Given the description of an element on the screen output the (x, y) to click on. 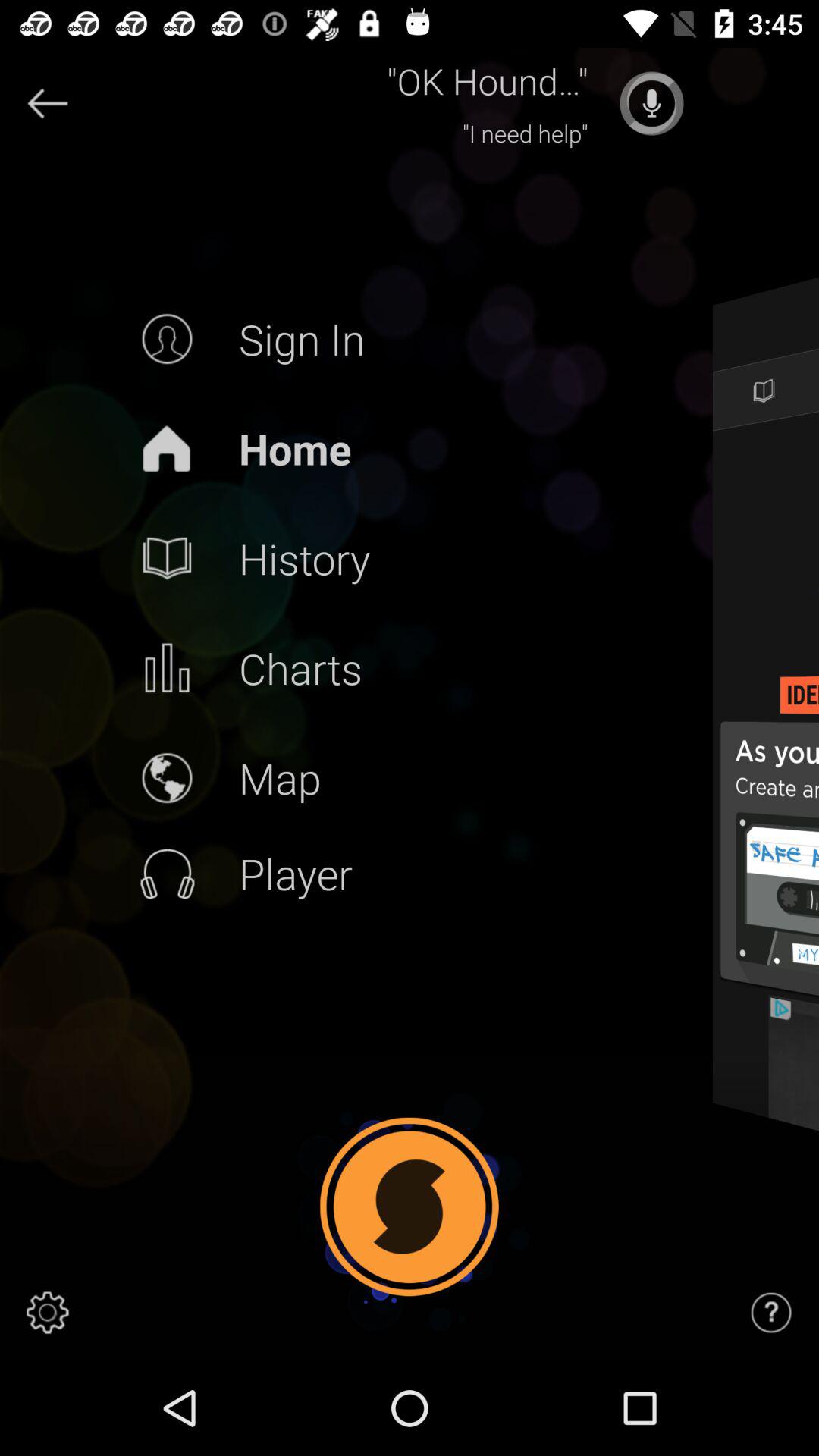
play song (651, 103)
